Given the description of an element on the screen output the (x, y) to click on. 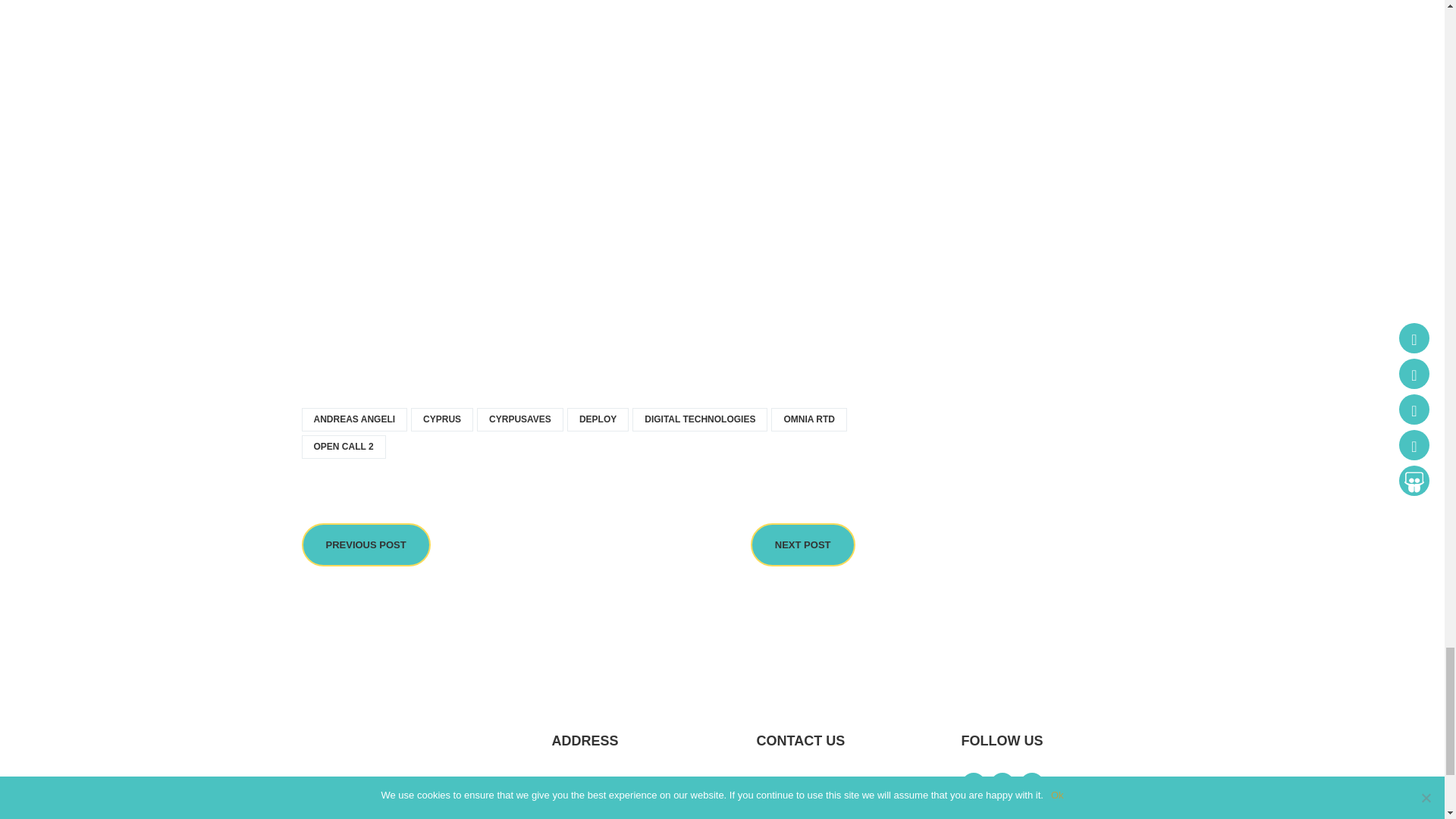
ANDREAS ANGELI (354, 419)
LinkedIn (1031, 784)
DIGITAL TECHNOLOGIES (699, 419)
Facebook (972, 784)
SlideShare (1002, 810)
NEXT POST (803, 544)
OPEN CALL 2 (343, 446)
DEPLOY (597, 419)
PREVIOUS POST (365, 544)
Twitter (1002, 784)
CYRPUSAVES (520, 419)
Youtube (972, 810)
OMNIA RTD (809, 419)
CYPRUS (441, 419)
